Given the description of an element on the screen output the (x, y) to click on. 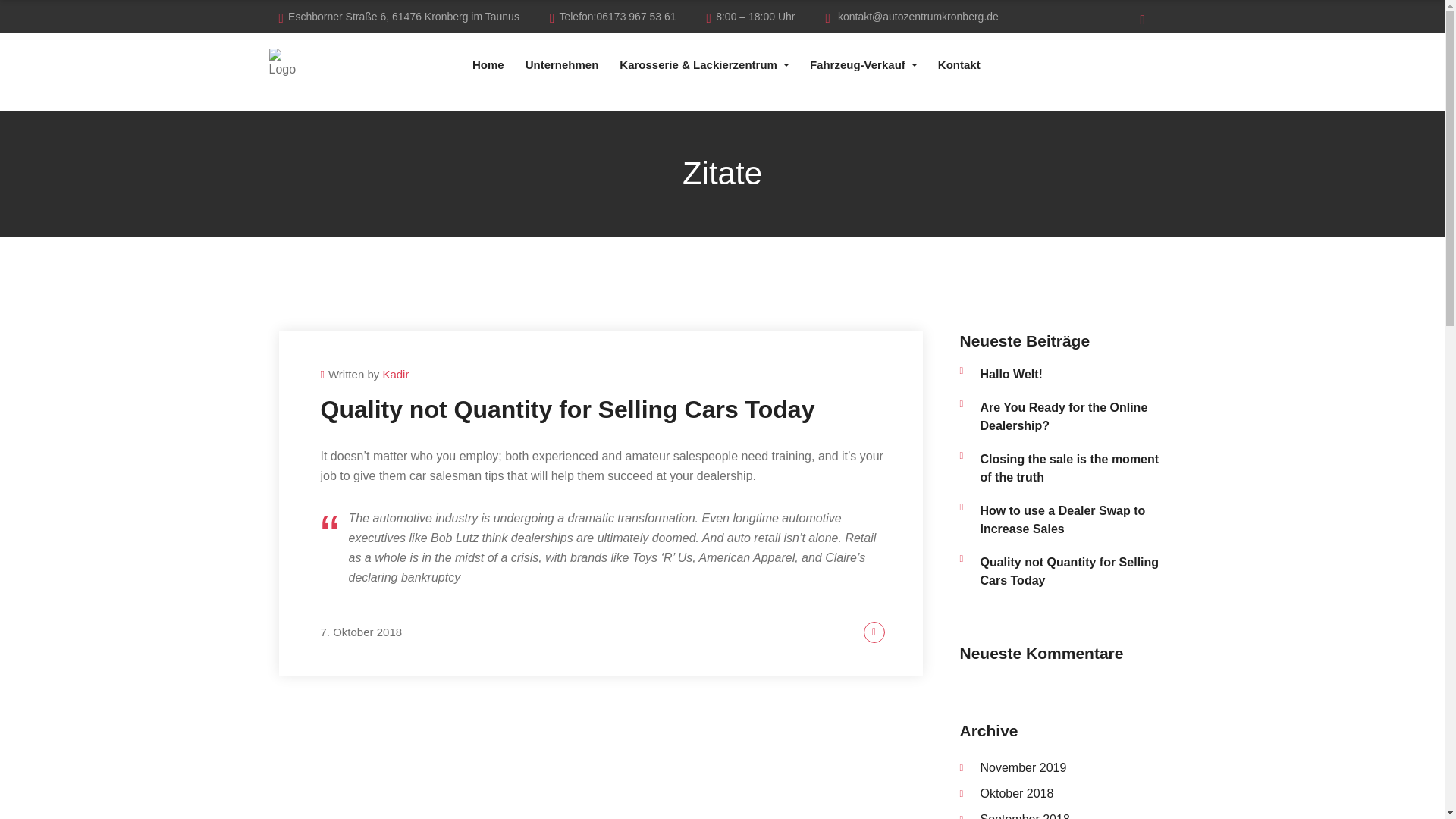
Fahrzeug-Verkauf (863, 63)
Home (488, 63)
Hallo Welt! (1072, 374)
Telefon:06173 967 53 61 (613, 16)
Quality not Quantity for Selling Cars Today (566, 409)
Kontakt (959, 63)
Kadir (395, 373)
Unternehmen (562, 63)
